Given the description of an element on the screen output the (x, y) to click on. 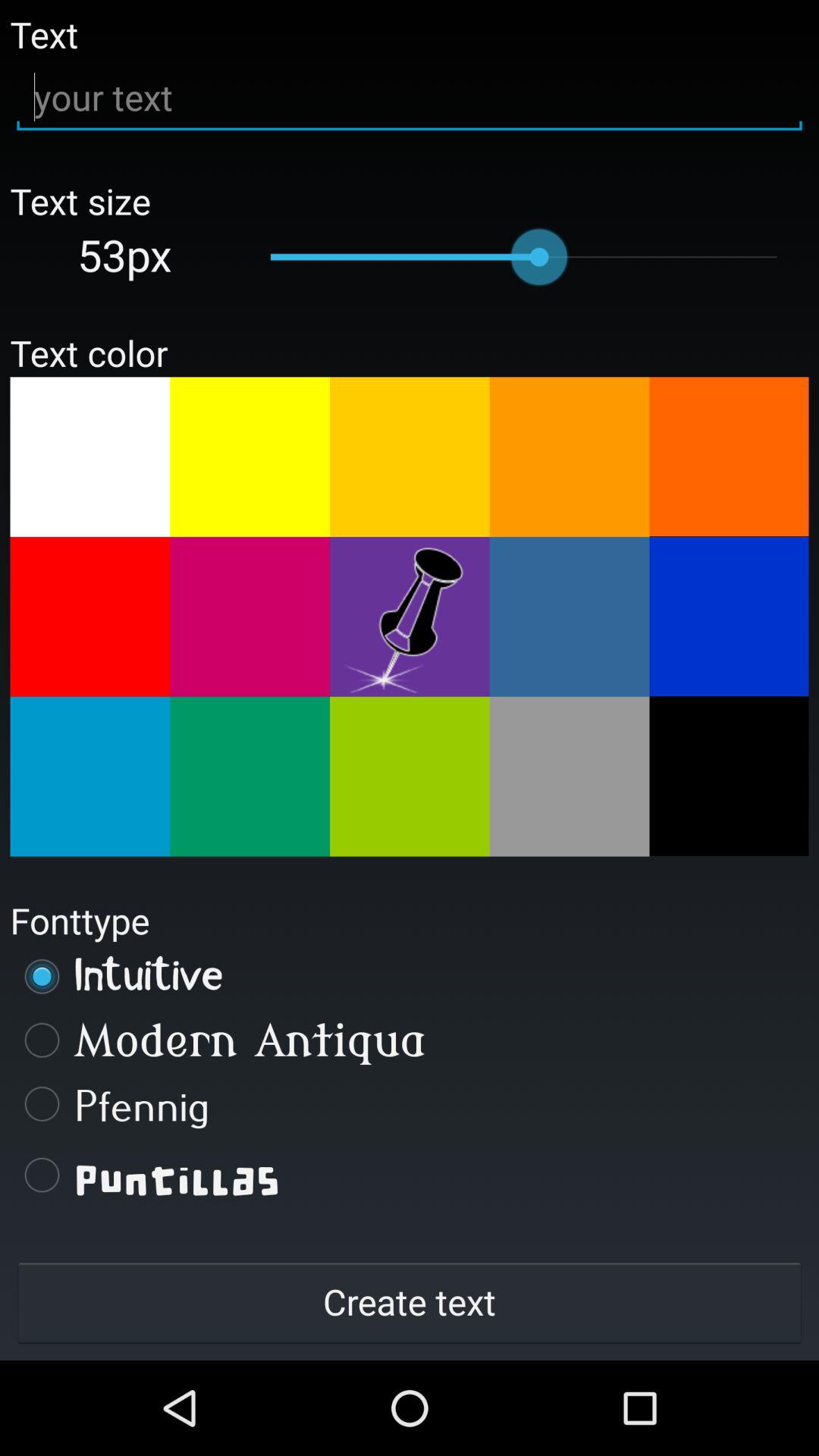
change text color to light blue (569, 616)
